Given the description of an element on the screen output the (x, y) to click on. 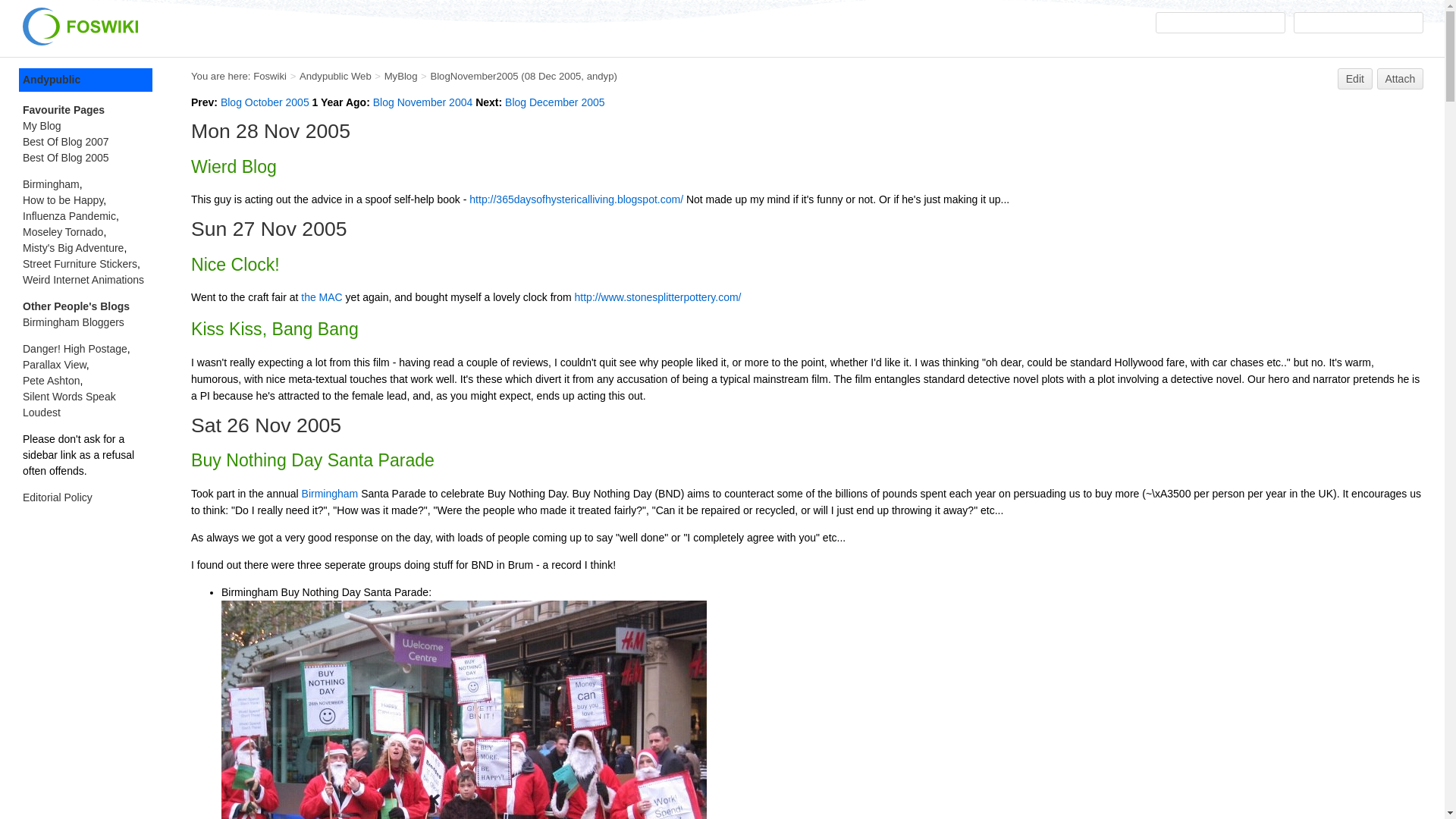
the MAC (321, 297)
Edit (1355, 78)
Attach an image or document to this topic (1400, 78)
Blog October 2005 (264, 102)
Attach (1400, 78)
Edit this topic text (1355, 78)
Blog November 2004 (422, 102)
Andypublic Web (335, 75)
Jump (1220, 22)
Foswiki (269, 75)
